Given the description of an element on the screen output the (x, y) to click on. 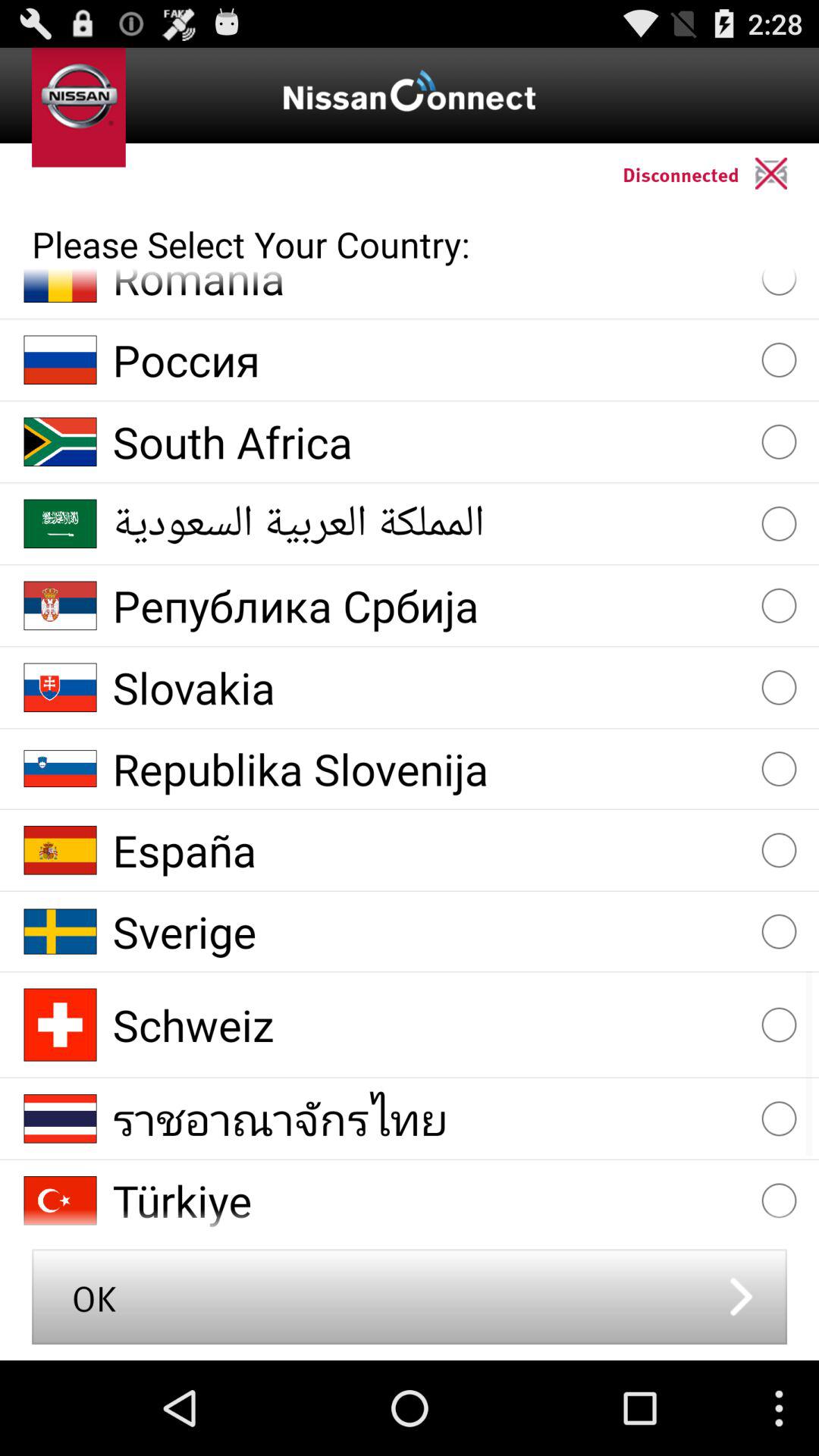
press the icon next to the disconnected item (787, 173)
